Given the description of an element on the screen output the (x, y) to click on. 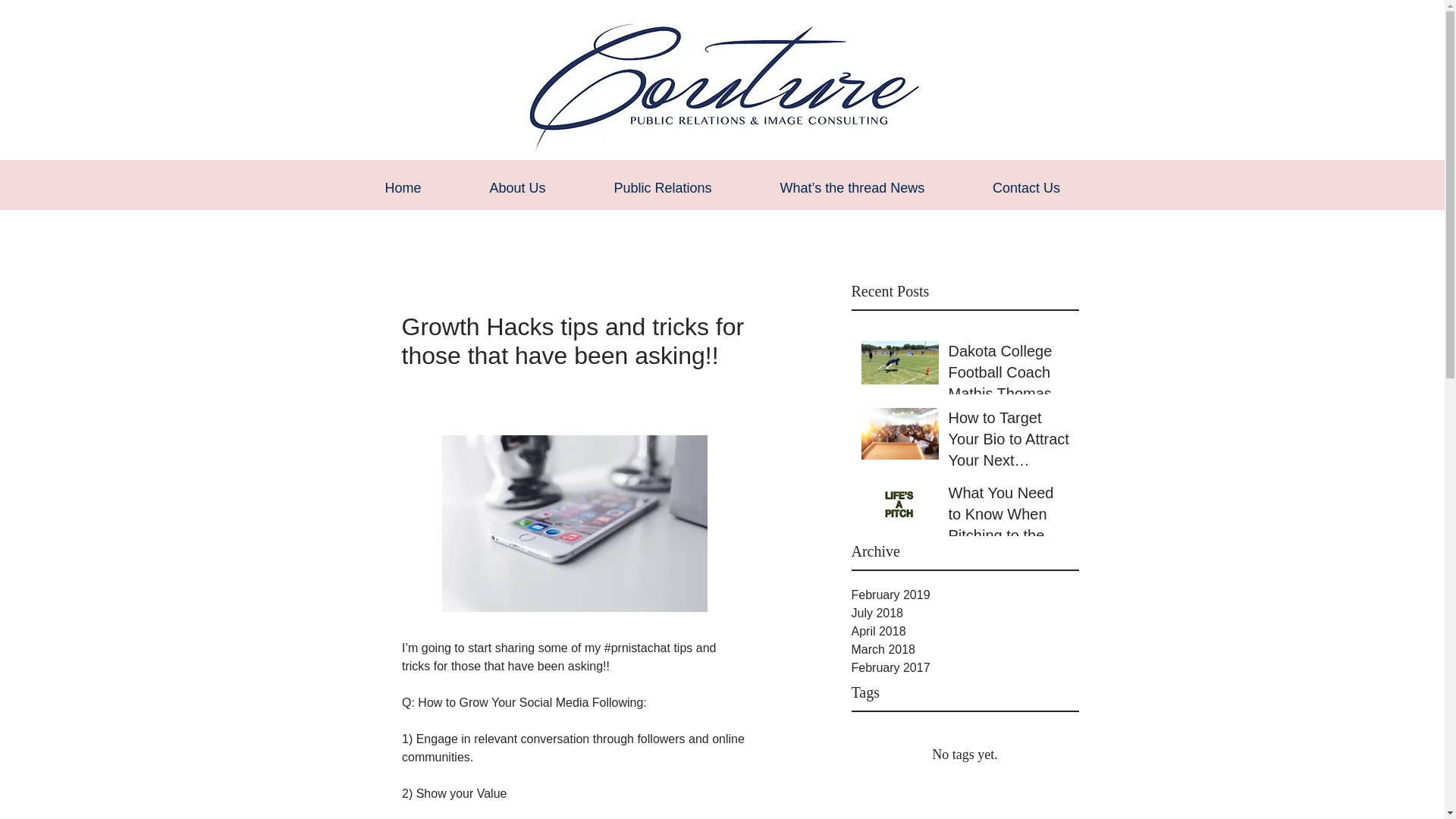
What You Need to Know When Pitching to the Media (1007, 517)
February 2019 (964, 595)
February 2017 (964, 668)
April 2018 (964, 631)
cpr 4 logo.jpg (721, 83)
Public Relations (662, 187)
July 2018 (964, 613)
March 2018 (964, 649)
Home (402, 187)
About Us (516, 187)
Contact Us (1025, 187)
